Given the description of an element on the screen output the (x, y) to click on. 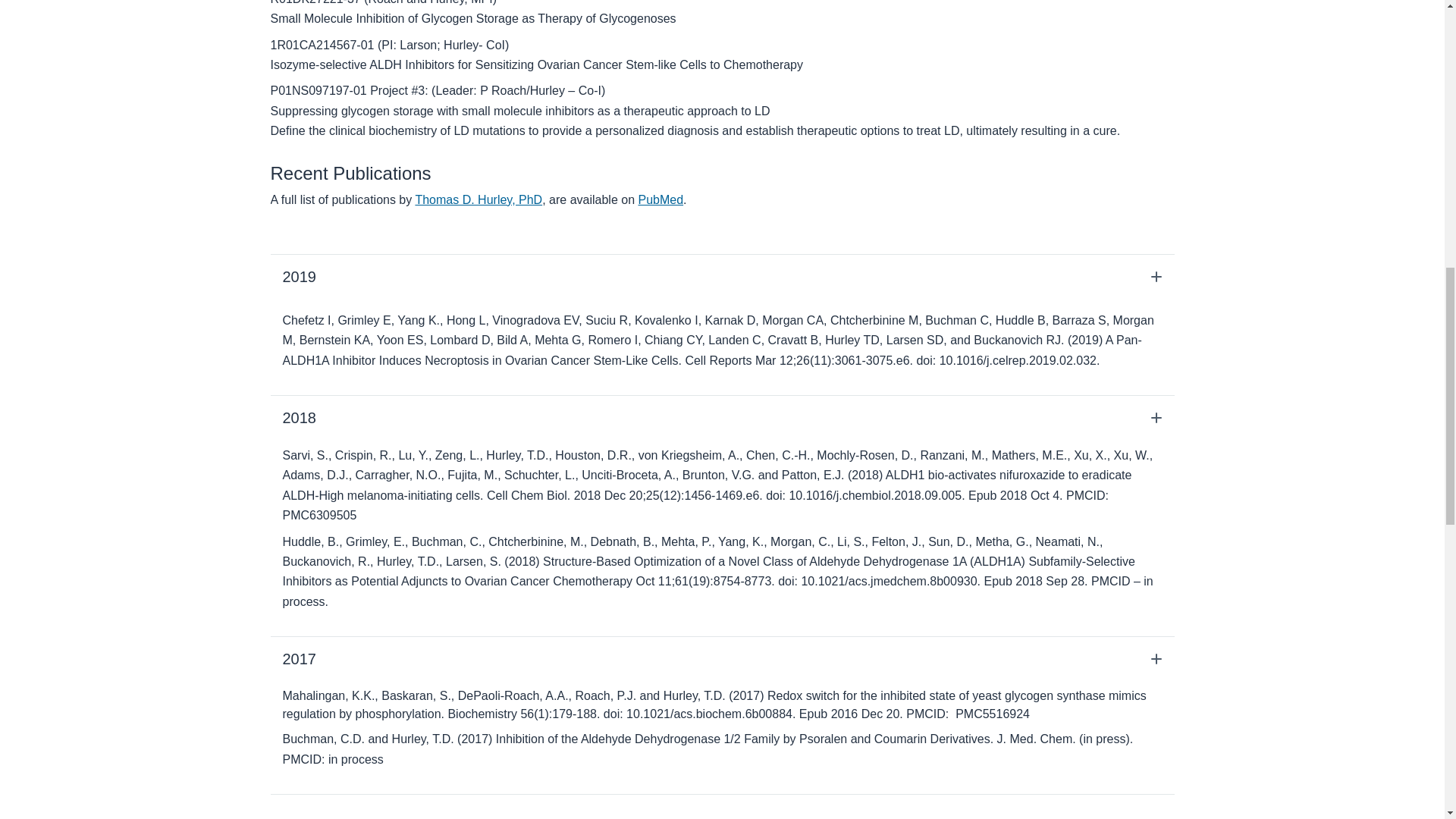
Thomas D. Hurley, PhD (477, 199)
PubMed (659, 199)
2019 (721, 276)
2018 (721, 417)
2017 (721, 658)
